Given the description of an element on the screen output the (x, y) to click on. 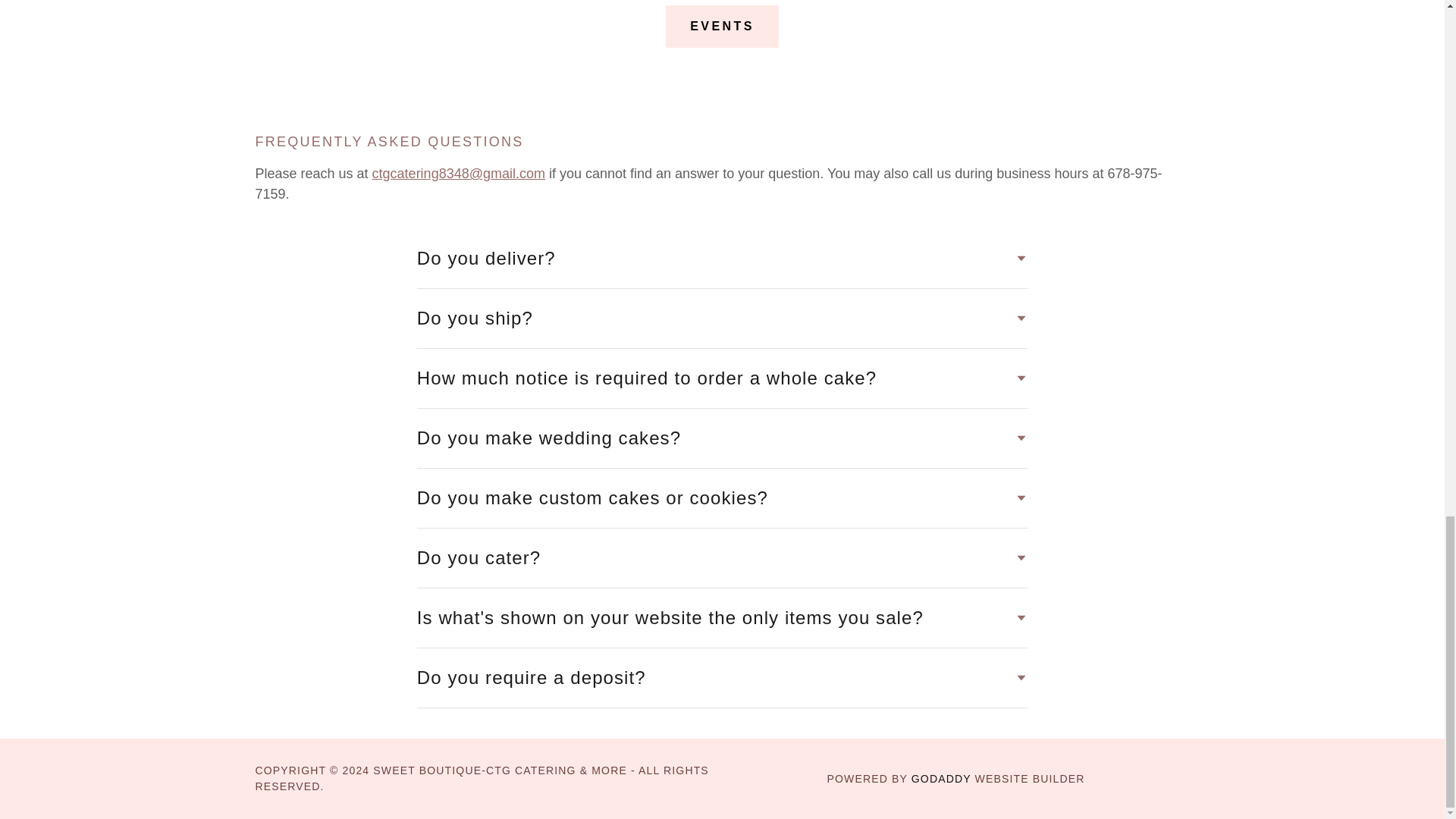
Do you ship? (721, 318)
Do you make wedding cakes? (721, 437)
EVENTS (721, 25)
How much notice is required to order a whole cake? (721, 378)
GODADDY (941, 778)
Do you cater? (721, 557)
Do you require a deposit? (721, 677)
Is what's shown on your website the only items you sale? (721, 617)
Do you deliver? (721, 258)
Do you make custom cakes or cookies? (721, 497)
